Given the description of an element on the screen output the (x, y) to click on. 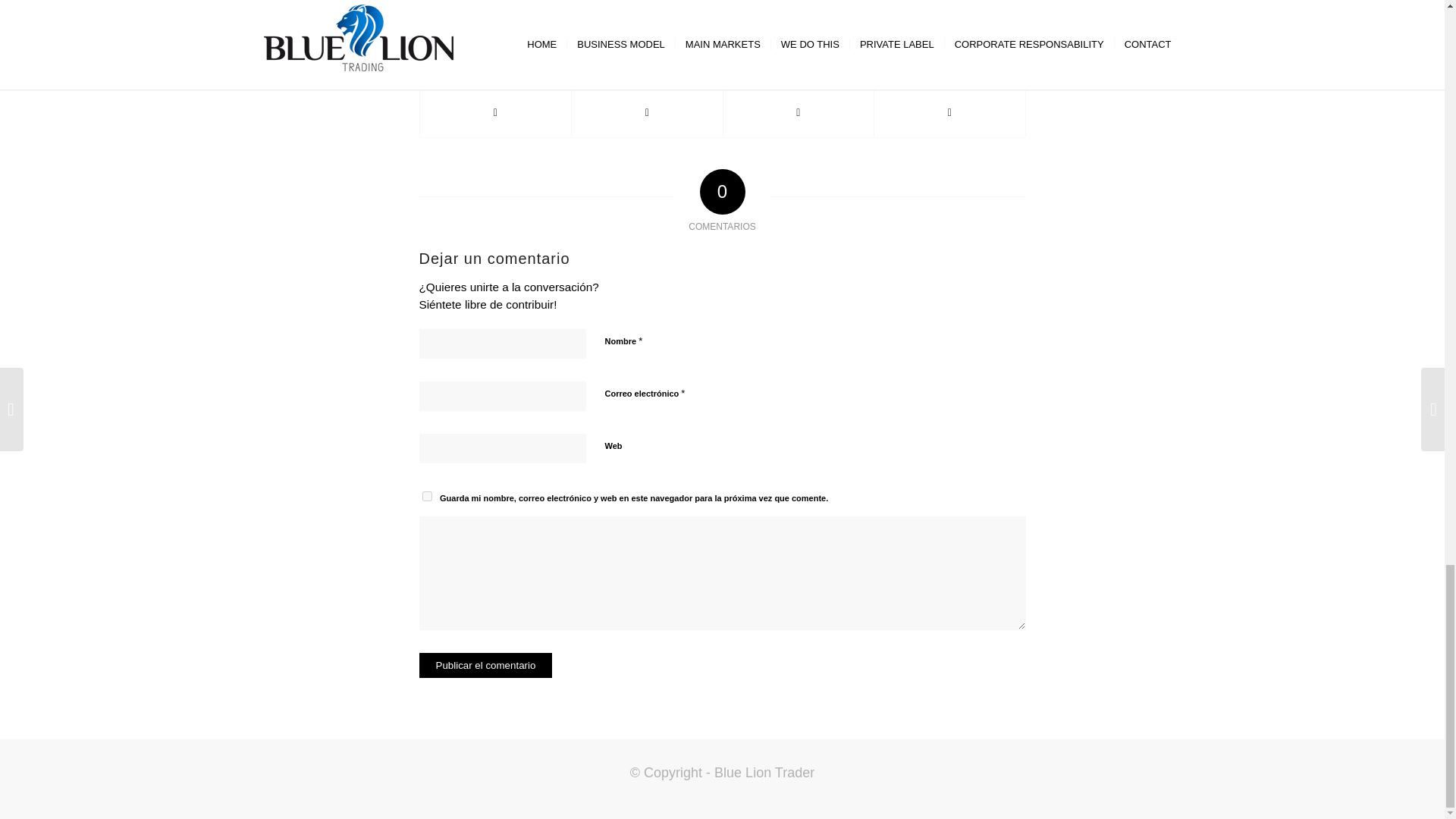
Publicar el comentario (485, 665)
yes (426, 496)
Publicar el comentario (485, 665)
MAXI (852, 7)
0 COMENTARIOS (737, 7)
Entradas de maxi (852, 7)
